Given the description of an element on the screen output the (x, y) to click on. 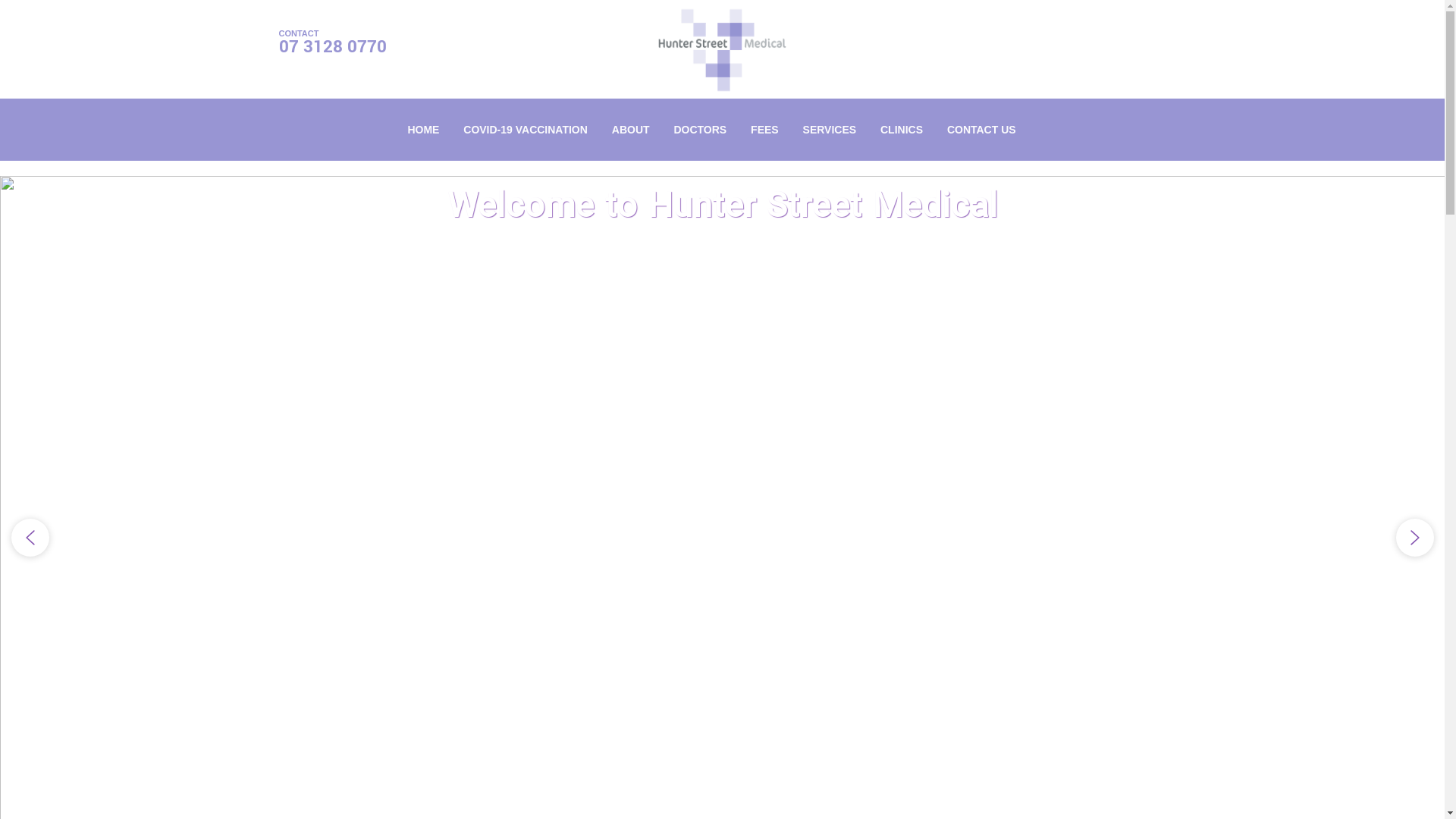
COVID-19 VACCINATION Element type: text (525, 129)
HOME Element type: text (423, 129)
FEES Element type: text (764, 129)
SERVICES Element type: text (829, 129)
CONTACT US Element type: text (981, 129)
CLINICS Element type: text (901, 129)
DOCTORS Element type: text (699, 129)
ABOUT Element type: text (630, 129)
